Given the description of an element on the screen output the (x, y) to click on. 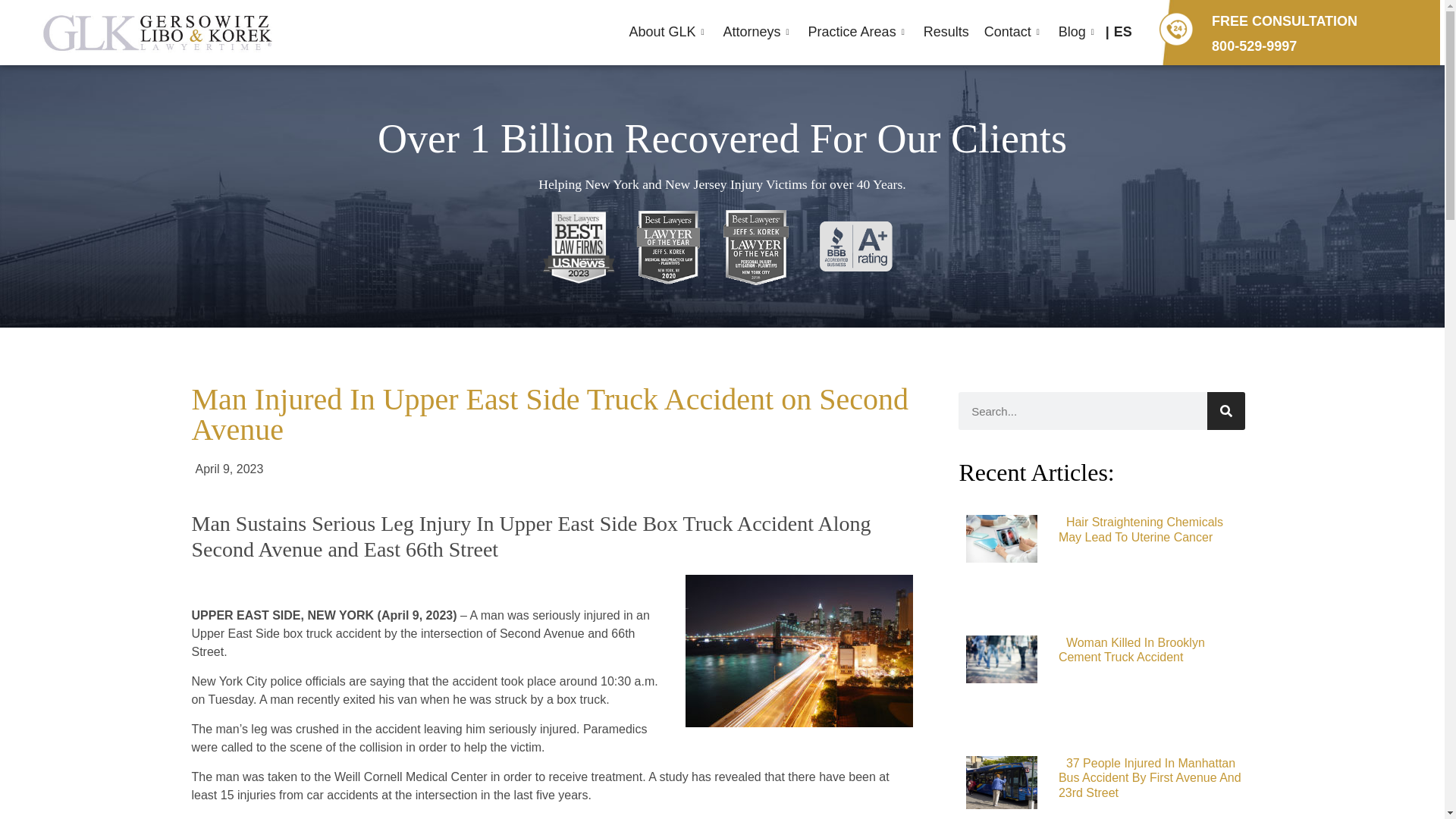
phone-icon.png (1175, 28)
About GLK (667, 32)
Attorneys (758, 32)
ES (1123, 32)
Practice Areas (857, 32)
